Given the description of an element on the screen output the (x, y) to click on. 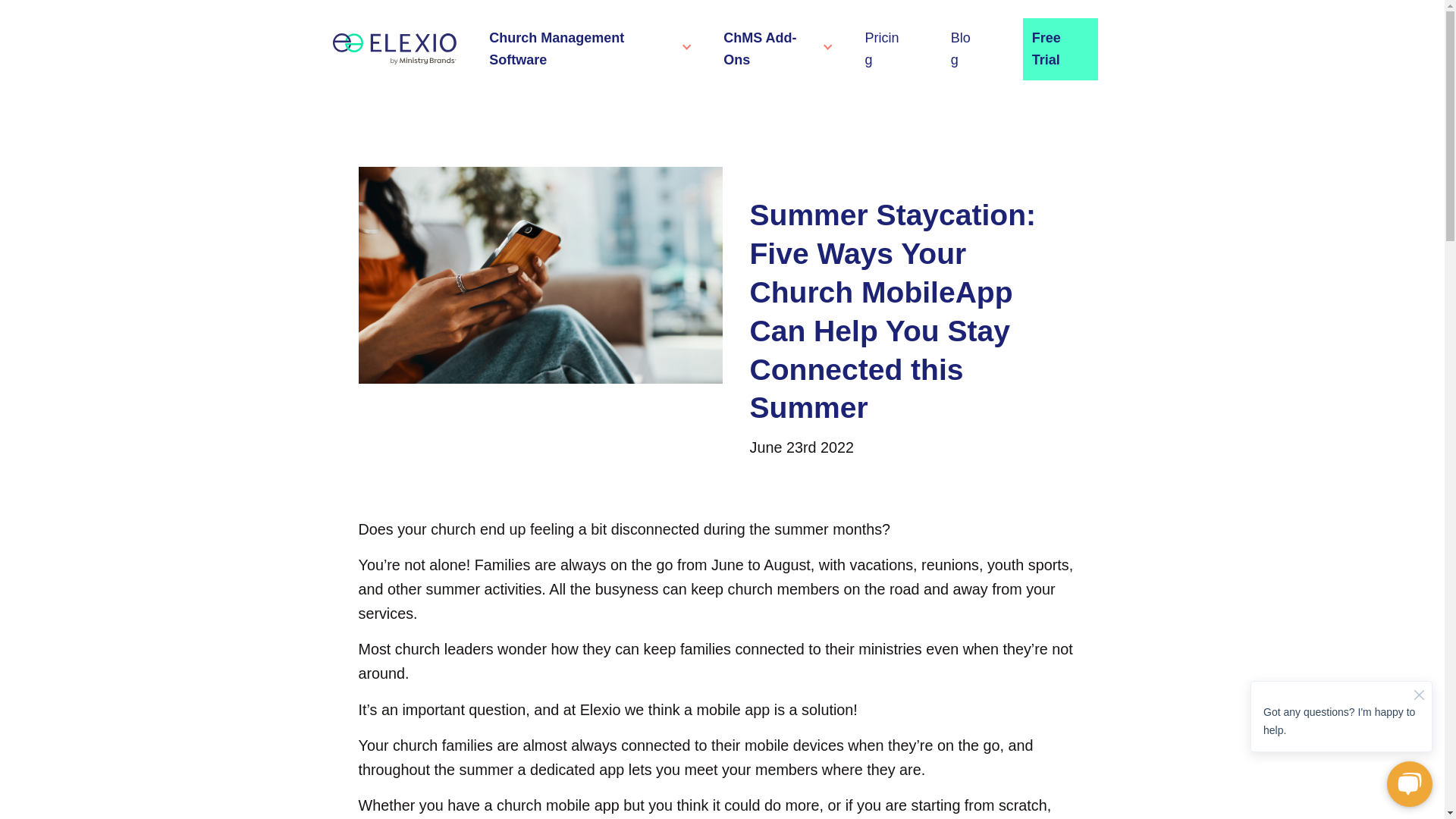
Church Management Software (583, 49)
Pricing (884, 49)
ChMS Add-Ons (770, 49)
